Given the description of an element on the screen output the (x, y) to click on. 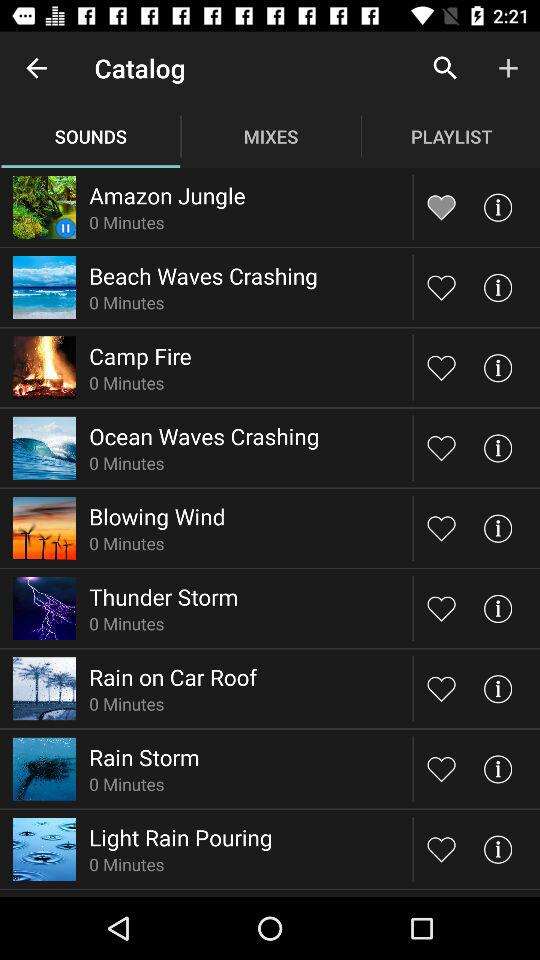
seek info (498, 848)
